Given the description of an element on the screen output the (x, y) to click on. 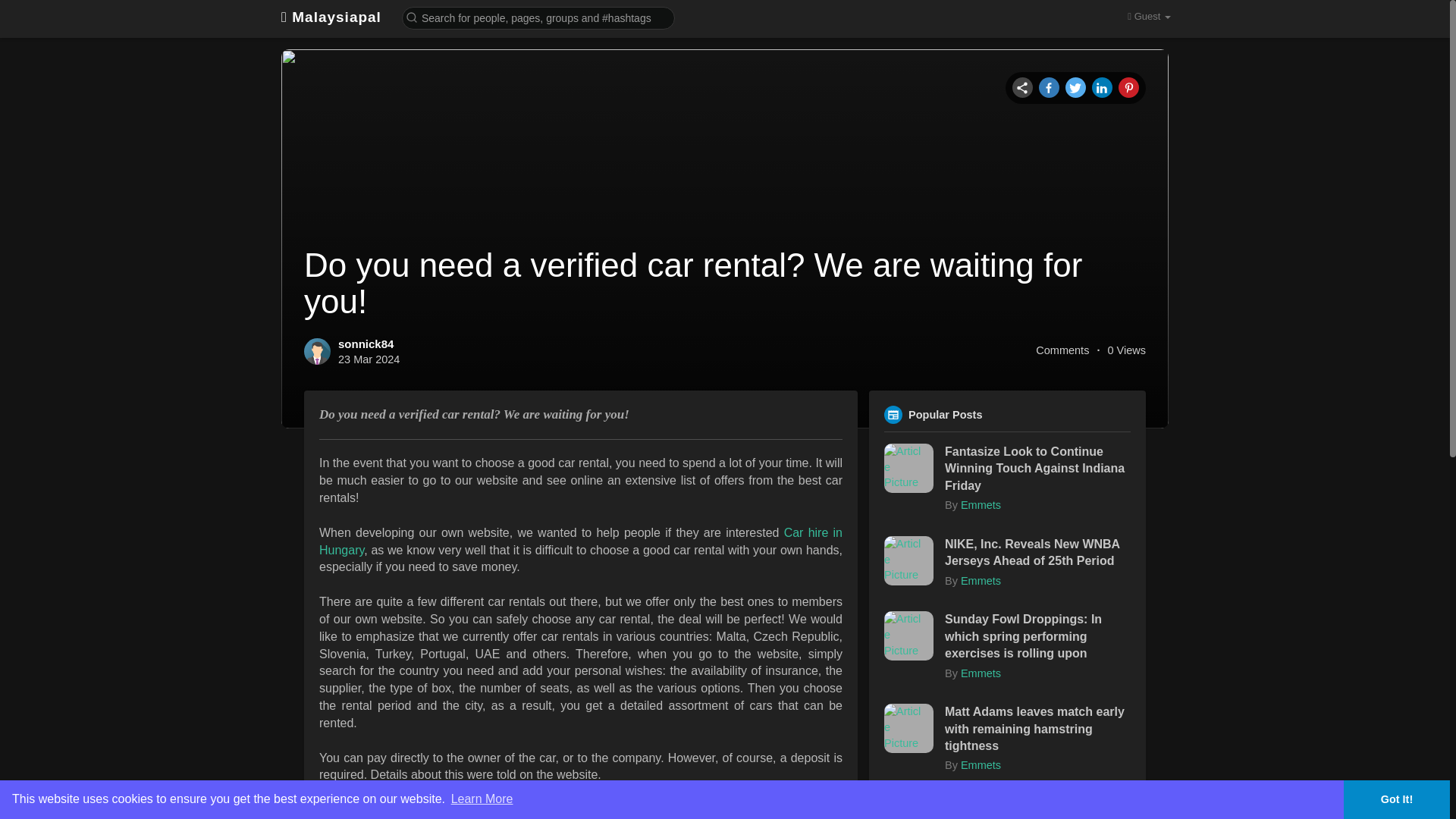
Timeline (1021, 86)
 Malaysiapal (331, 17)
Car hire in Hungary (580, 541)
Emmets (980, 504)
Emmets (980, 673)
Comments (1062, 350)
Emmets (980, 580)
Guest (1148, 17)
sonnick84 (365, 343)
NIKE, Inc. Reveals New WNBA Jerseys Ahead of 25th Period (1037, 553)
Pinterest (1128, 86)
Learn More (481, 798)
